Given the description of an element on the screen output the (x, y) to click on. 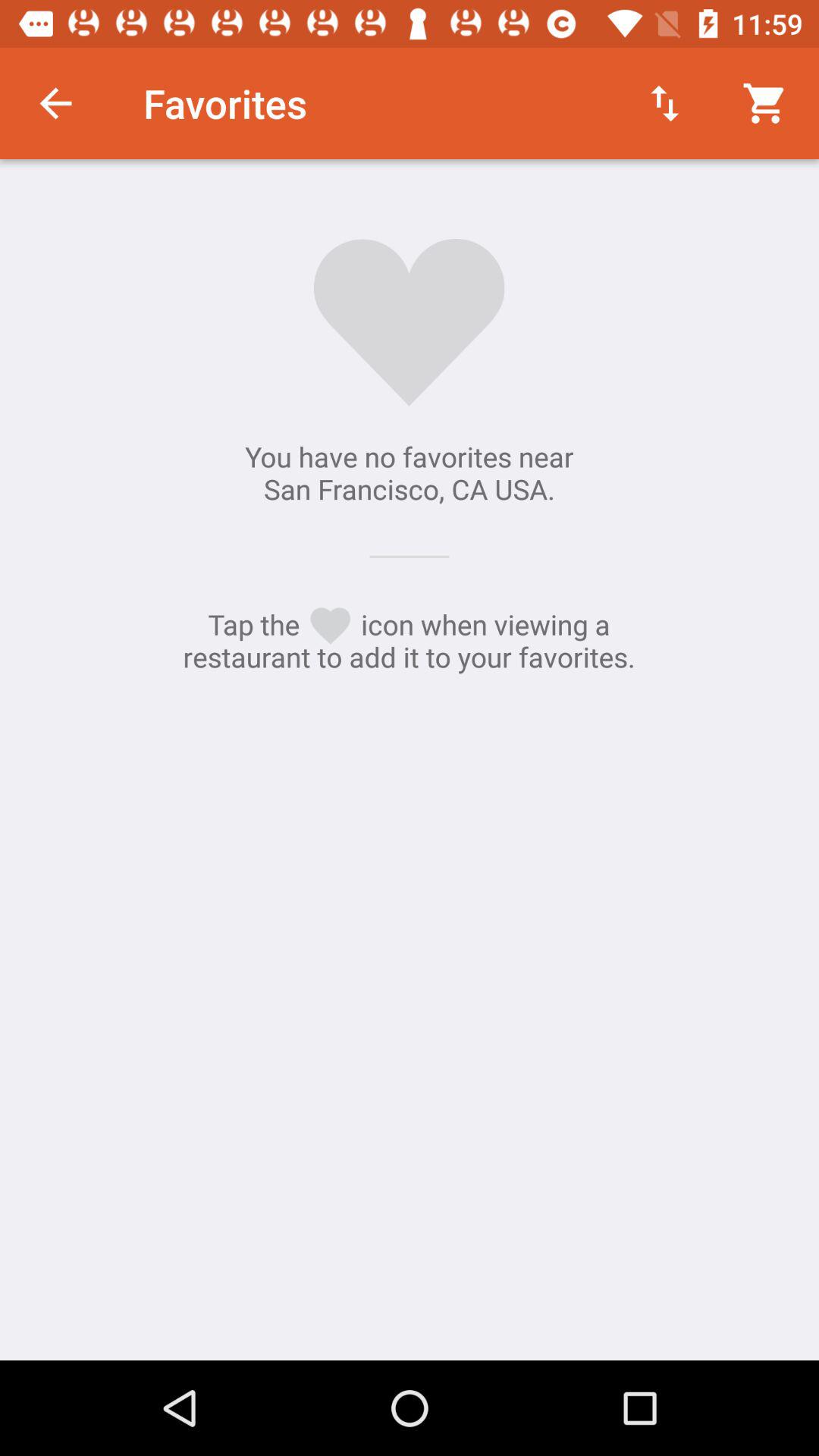
launch the icon above the you have no icon (664, 103)
